Given the description of an element on the screen output the (x, y) to click on. 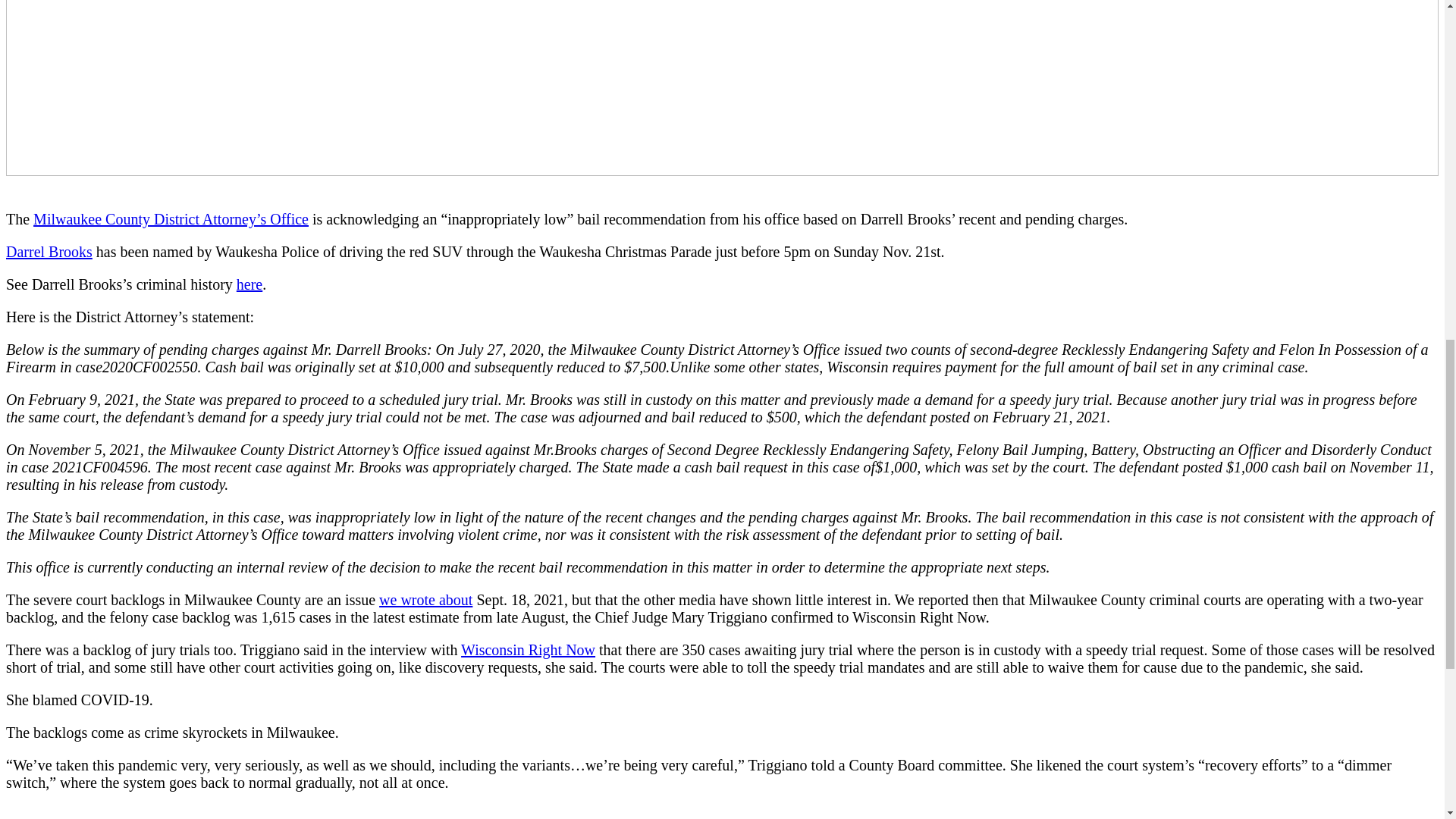
we wrote about (424, 599)
Darrel Brooks (49, 251)
here (248, 284)
Wisconsin Right Now (528, 649)
